Given the description of an element on the screen output the (x, y) to click on. 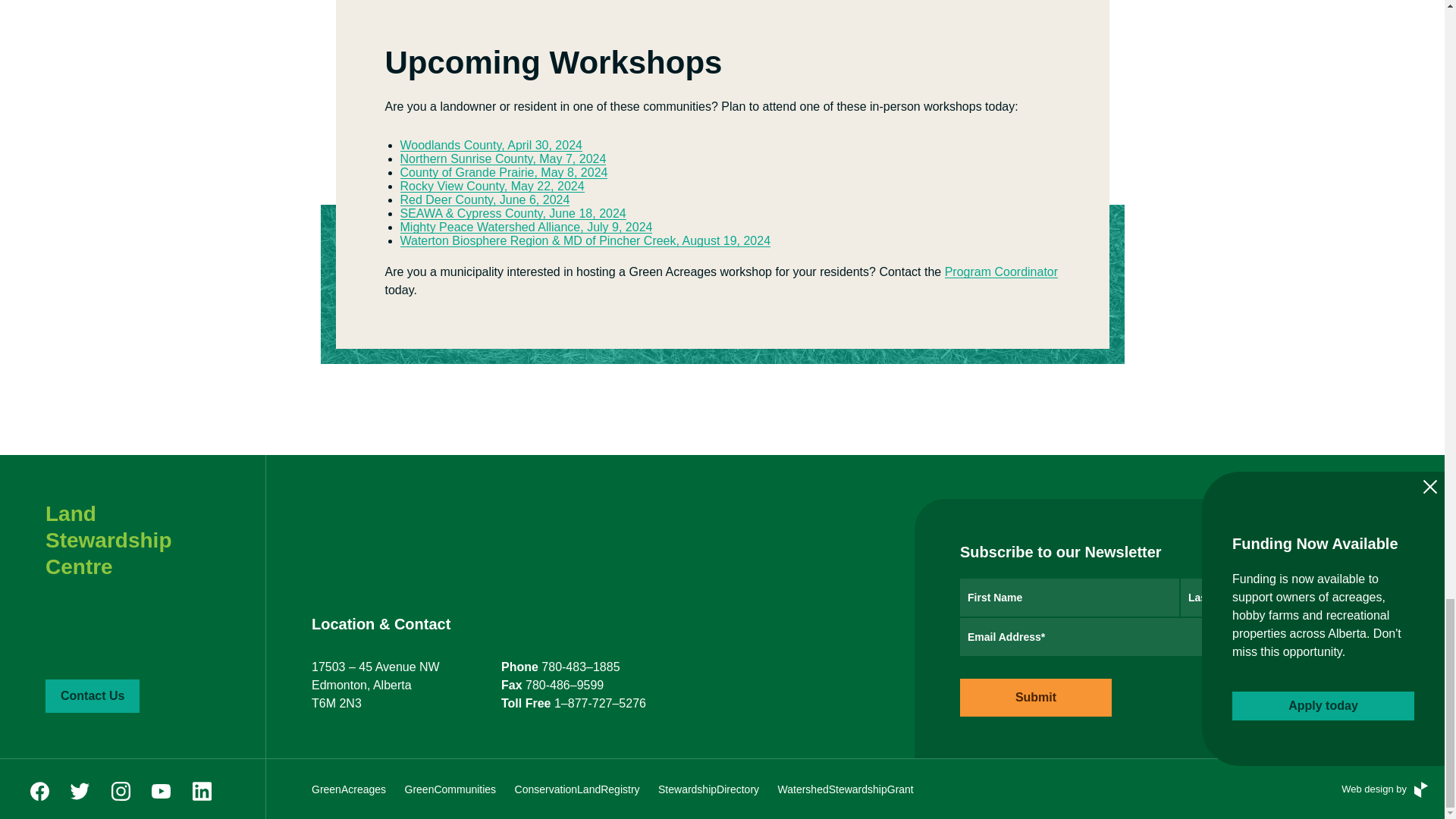
Mighty Peace Watershed Alliance, July 9, 2024 (526, 226)
Red Deer County, May 16, 2024 (492, 185)
Red Deer County, May 16, 2024 (485, 199)
County of Grande Prairie, May 8, 2024 (504, 172)
Northern Sunrise County, May 7, 2024 (503, 158)
Submit (1035, 697)
Woodlands County, April 30, 2024 (491, 144)
